Given the description of an element on the screen output the (x, y) to click on. 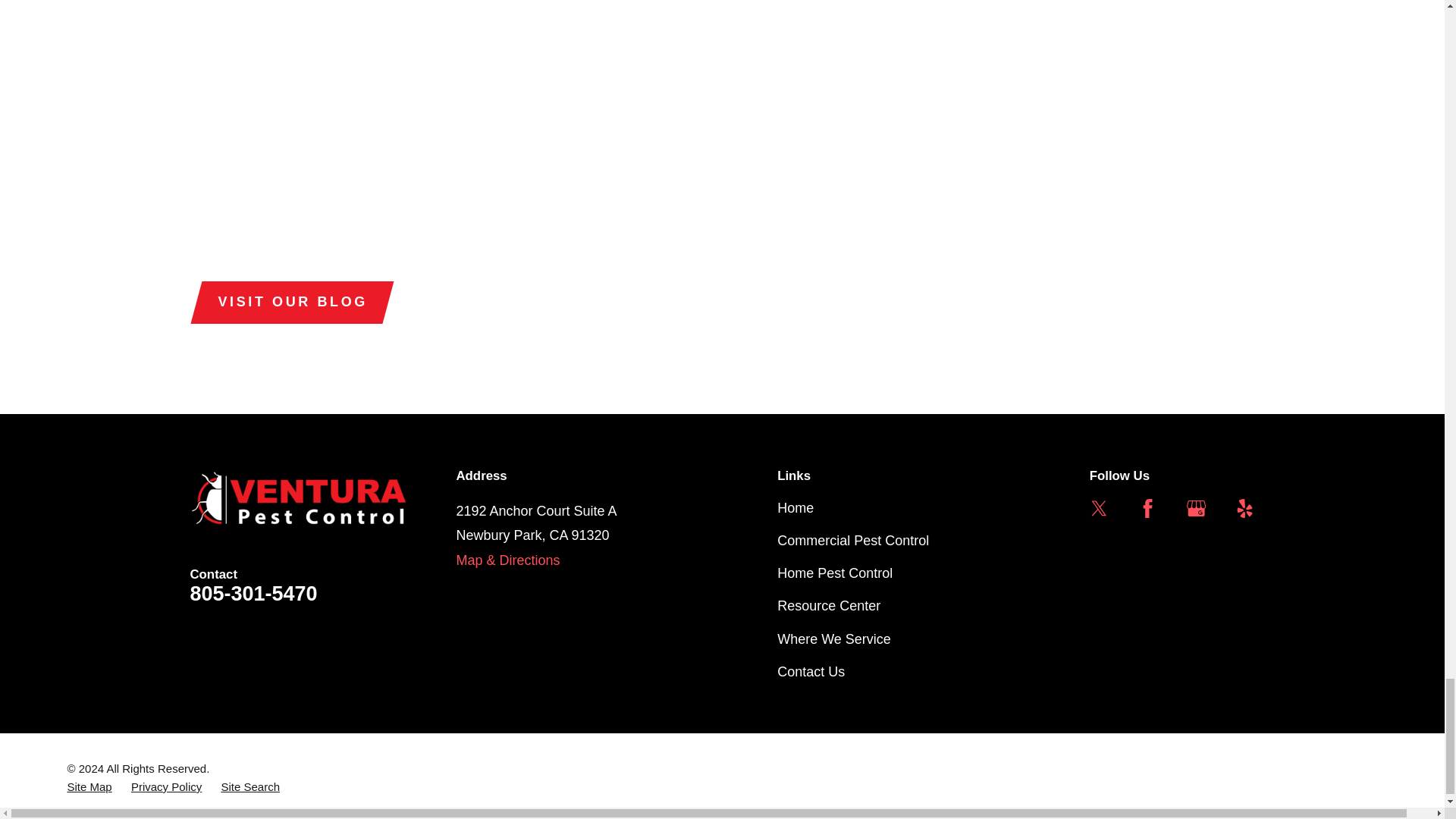
Home (298, 498)
